Given the description of an element on the screen output the (x, y) to click on. 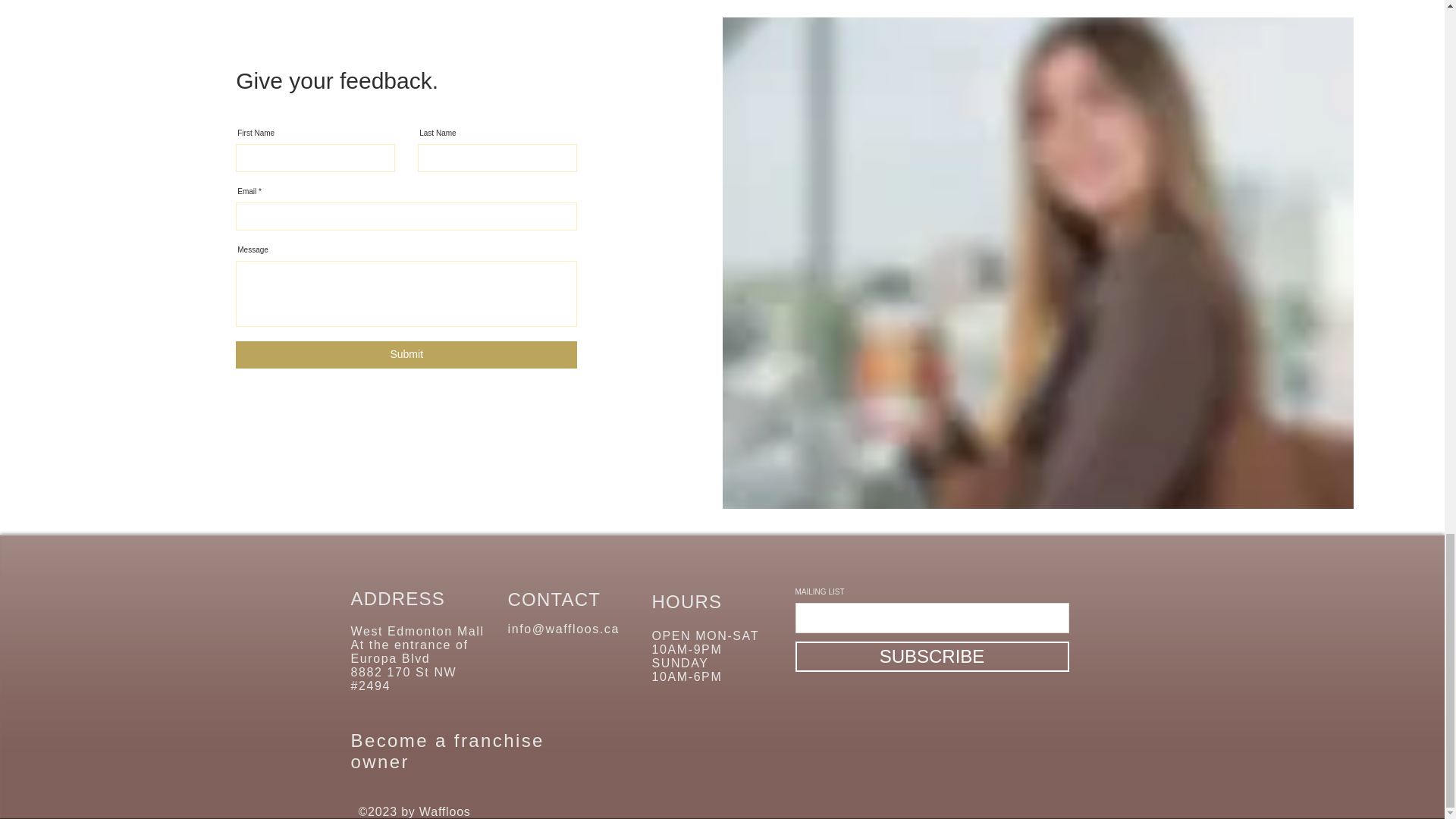
Become a franchise owner  (446, 751)
Submit (405, 354)
SUBSCRIBE (931, 656)
